Given the description of an element on the screen output the (x, y) to click on. 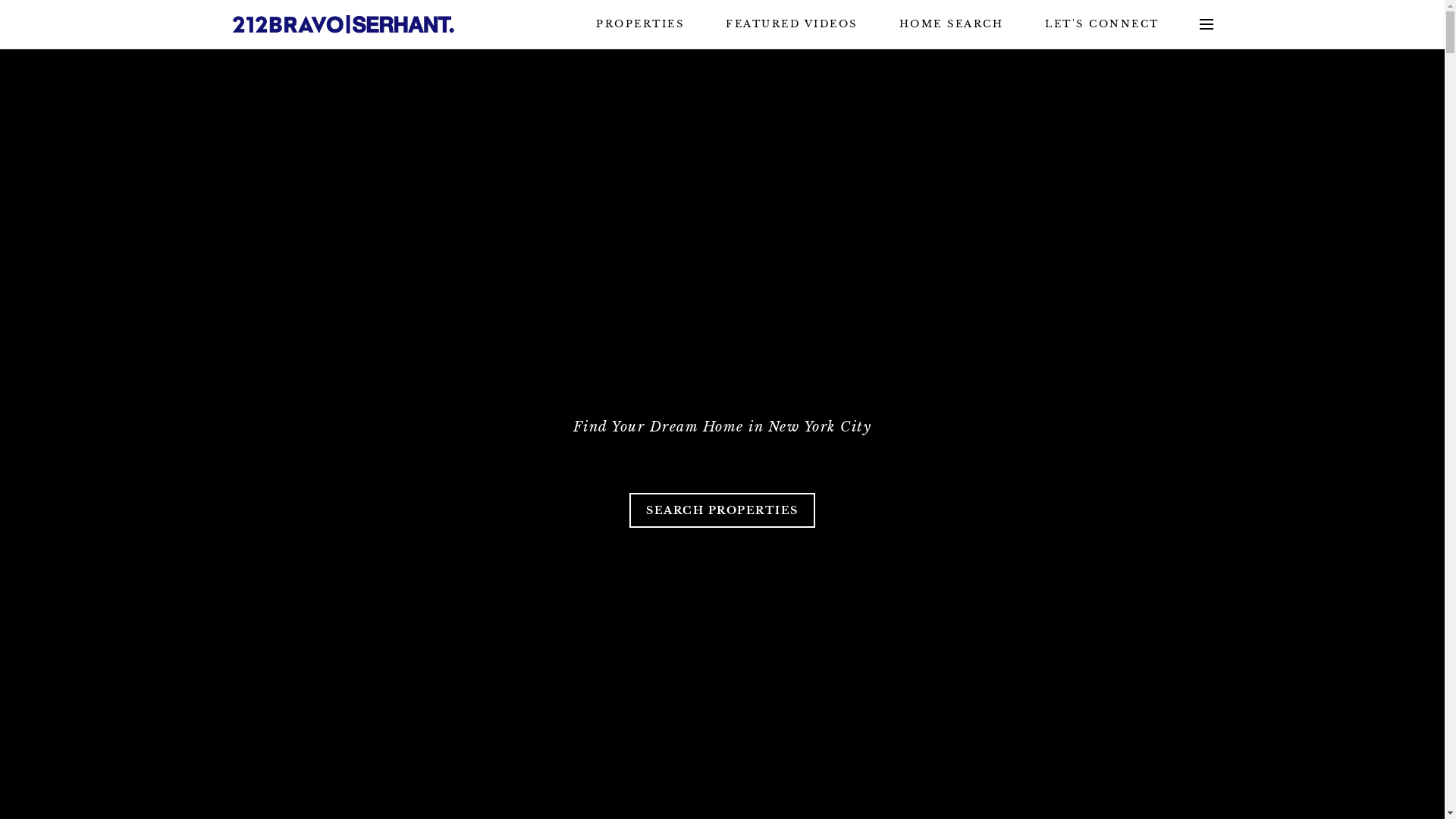
FEATURED VIDEOS Element type: text (791, 23)
SEARCH PROPERTIES Element type: text (722, 509)
LET'S CONNECT Element type: text (1101, 23)
